Given the description of an element on the screen output the (x, y) to click on. 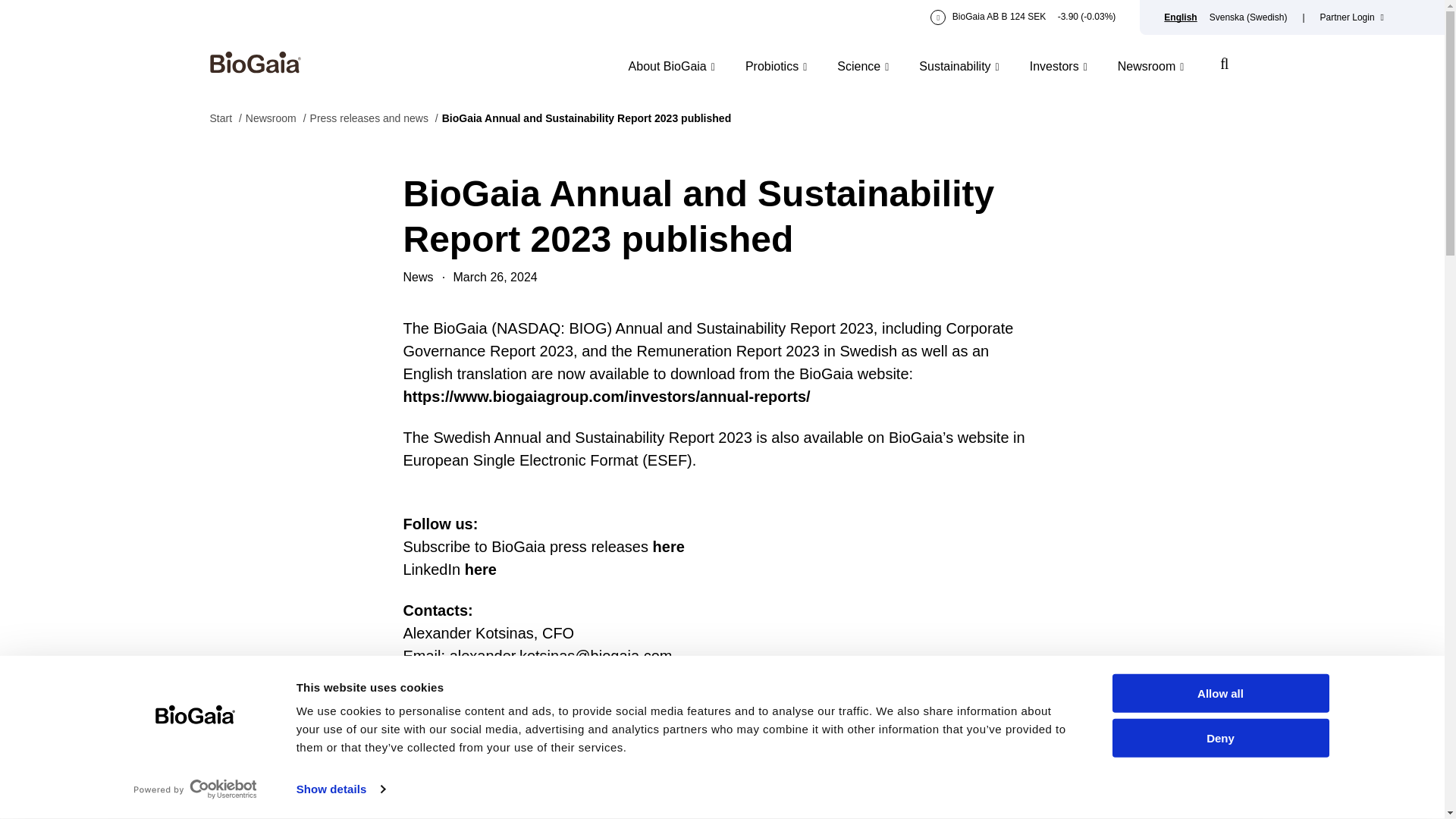
Show details (340, 789)
Allow all (1219, 693)
Deny (1219, 738)
